Given the description of an element on the screen output the (x, y) to click on. 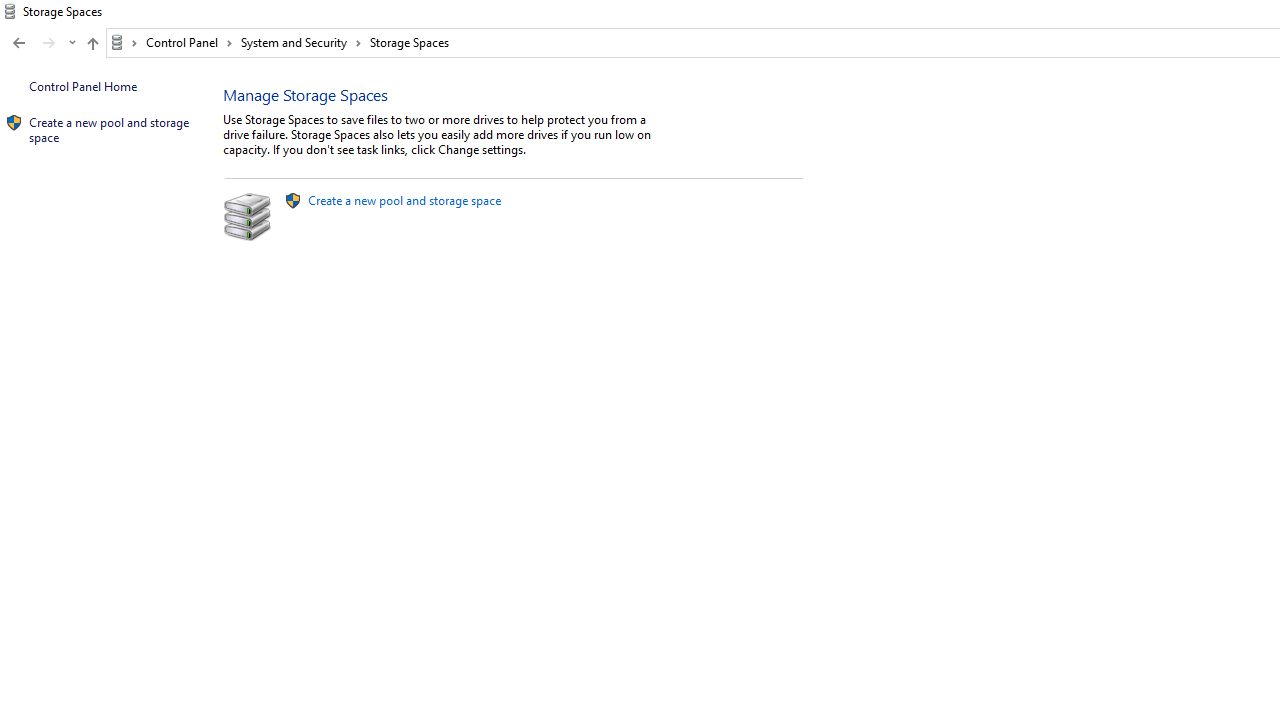
Up to "System and Security" (Alt + Up Arrow) (92, 43)
Storage Spaces (409, 42)
Up band toolbar (92, 46)
Navigation buttons (41, 43)
Control Panel (189, 42)
Create a new pool and storage space (404, 200)
System and Security (301, 42)
System (10, 11)
System (10, 11)
Forward (Alt + Right Arrow) (49, 43)
Recent locations (71, 43)
All locations (124, 42)
Back to System and Security (Alt + Left Arrow) (18, 43)
Control Panel Home (82, 86)
Icon (13, 123)
